Given the description of an element on the screen output the (x, y) to click on. 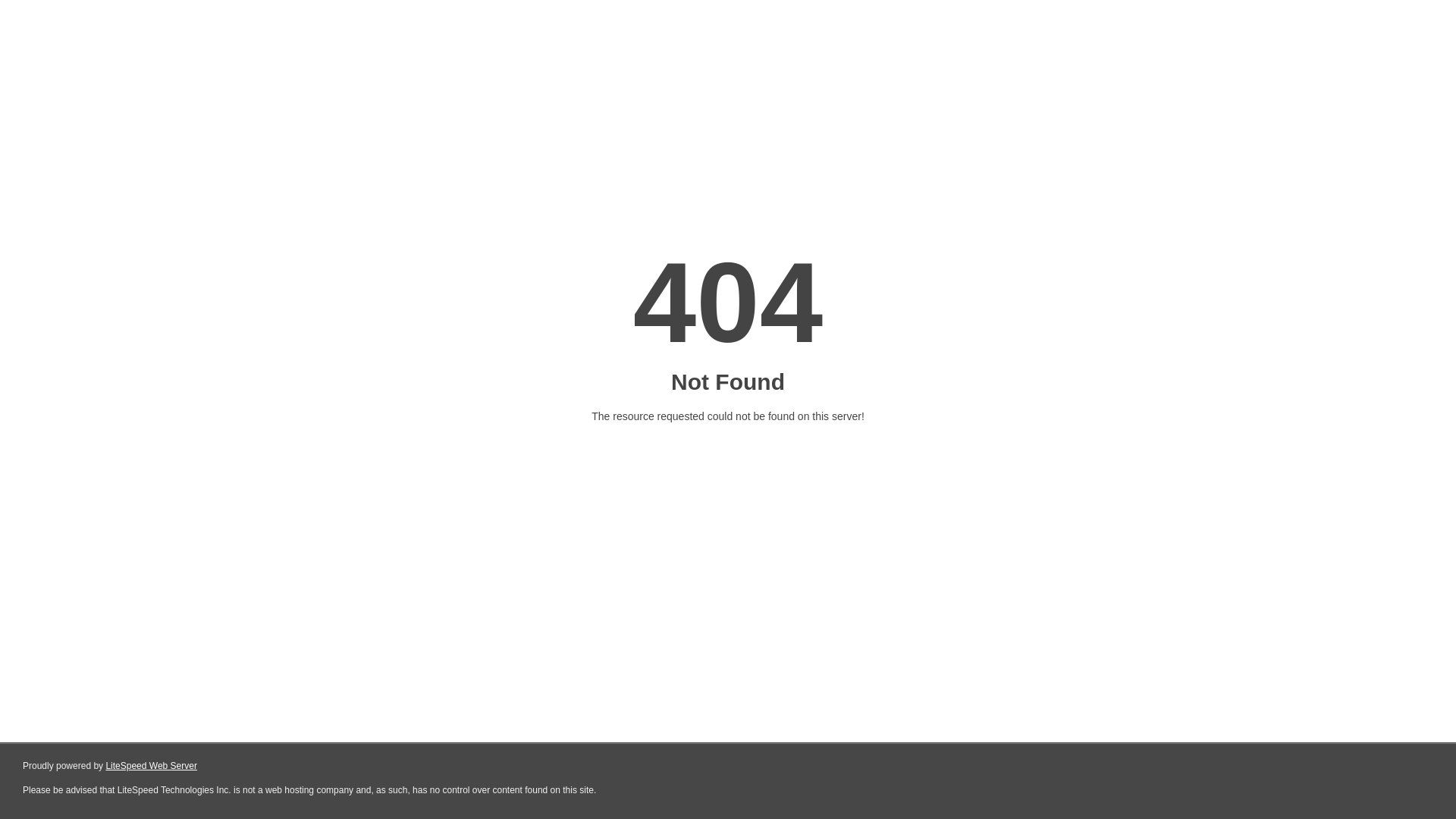
LiteSpeed Web Server (150, 765)
